Given the description of an element on the screen output the (x, y) to click on. 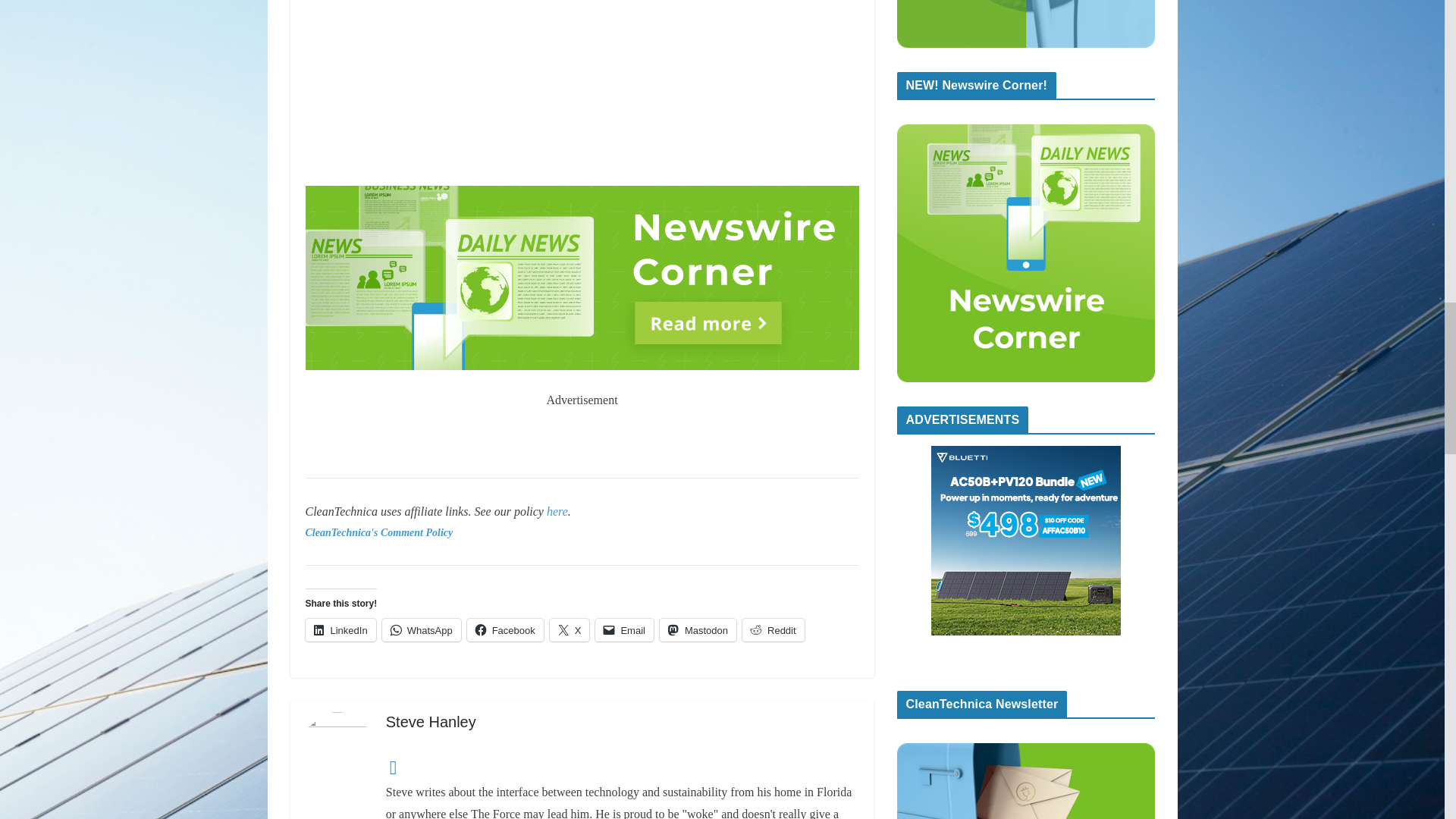
Click to share on Reddit (773, 630)
Click to email a link to a friend (624, 630)
Click to share on WhatsApp (421, 630)
YouTube video player (581, 89)
Click to share on LinkedIn (339, 630)
Click to share on Facebook (505, 630)
Click to share on Mastodon (697, 630)
Click to share on X (569, 630)
